Given the description of an element on the screen output the (x, y) to click on. 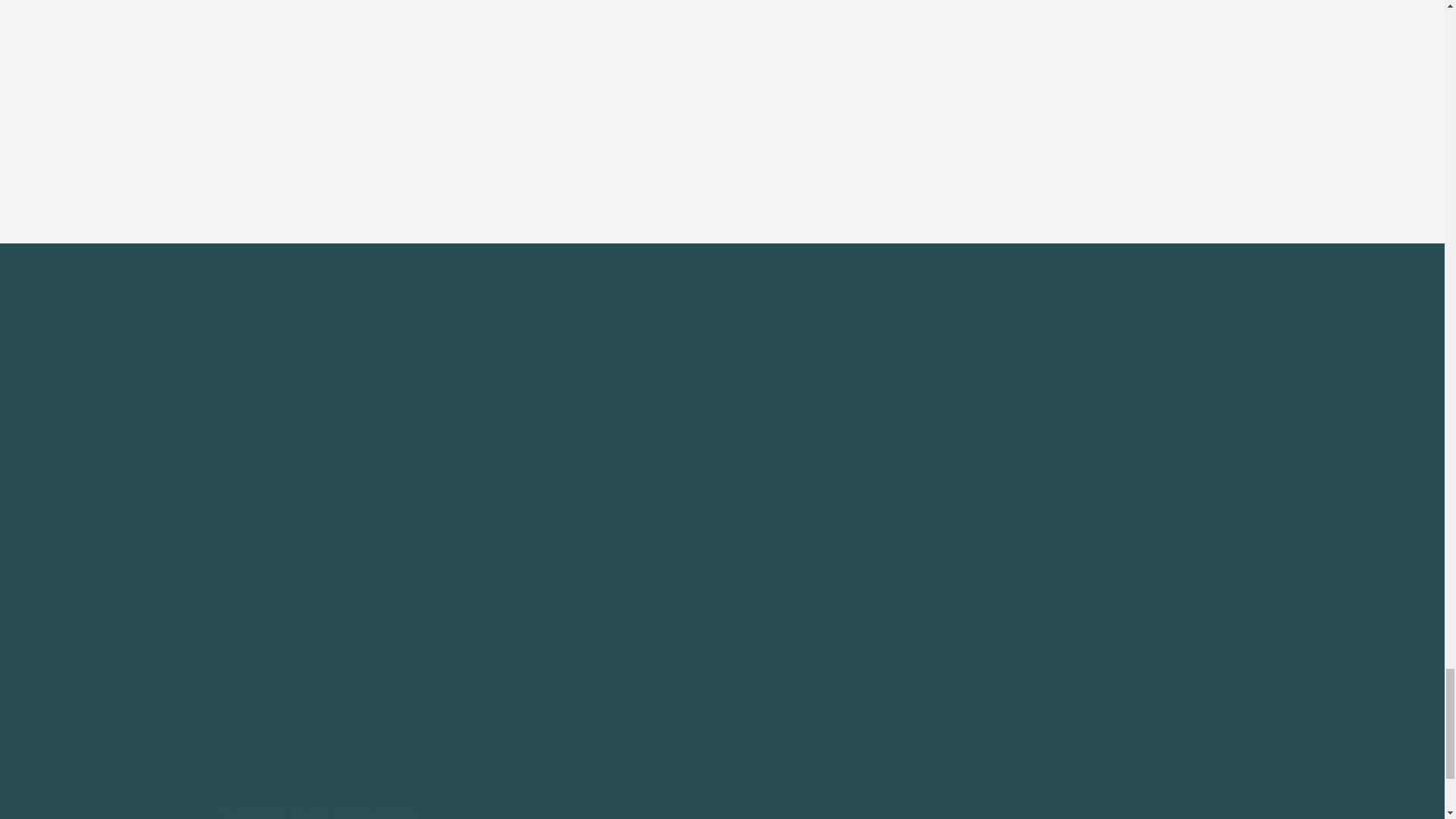
Post comment (467, 207)
tel:207-593-8017 (858, 370)
tel:207-230-1286 (840, 646)
tel:207-236-7120 (858, 509)
